Given the description of an element on the screen output the (x, y) to click on. 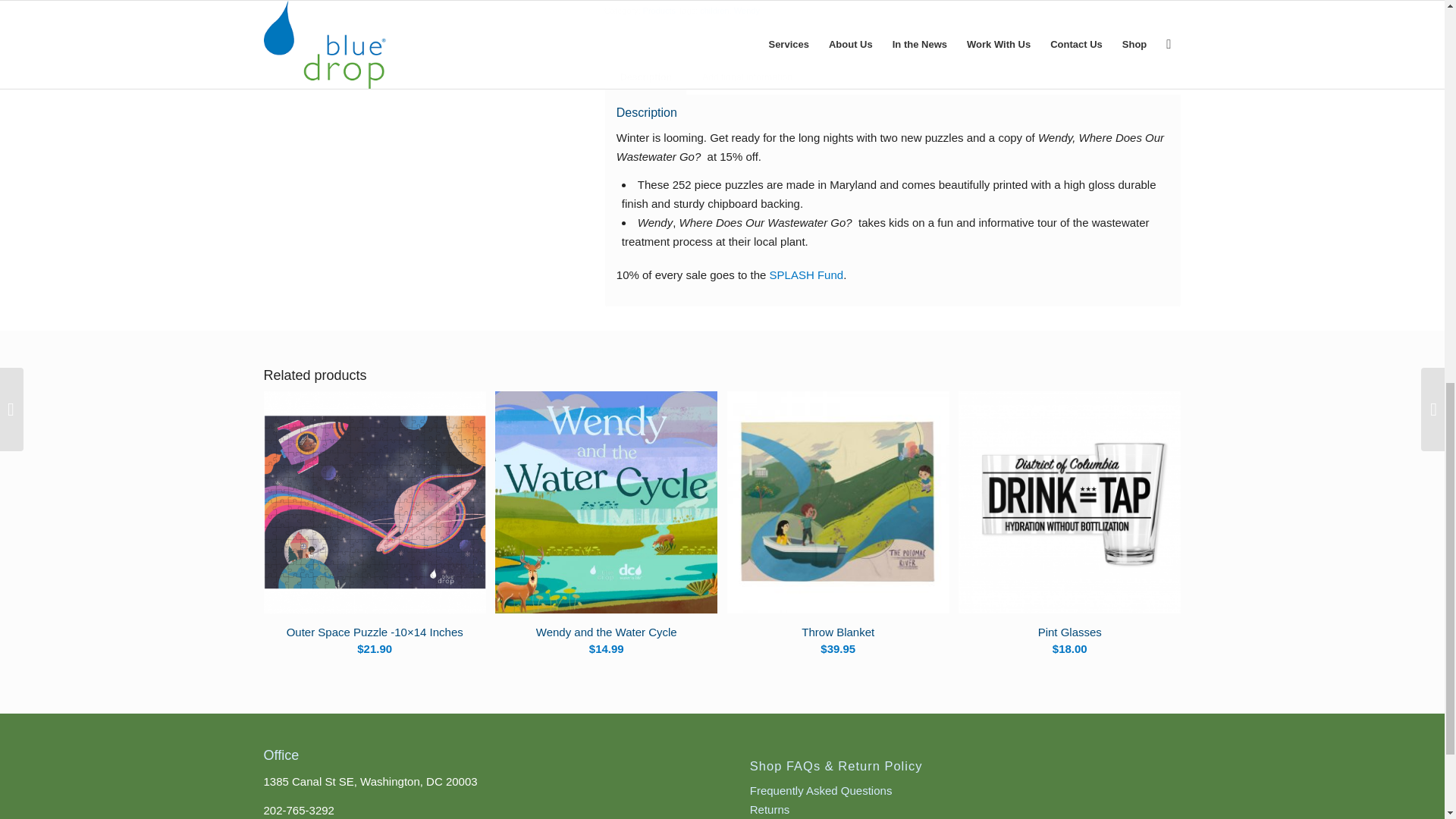
Description (645, 77)
Products (659, 10)
Additional information (746, 77)
SPLASH Fund (807, 274)
Frequently Asked Questions (820, 789)
children (714, 10)
Wendy (746, 10)
Additional information (746, 77)
Description (645, 77)
